Given the description of an element on the screen output the (x, y) to click on. 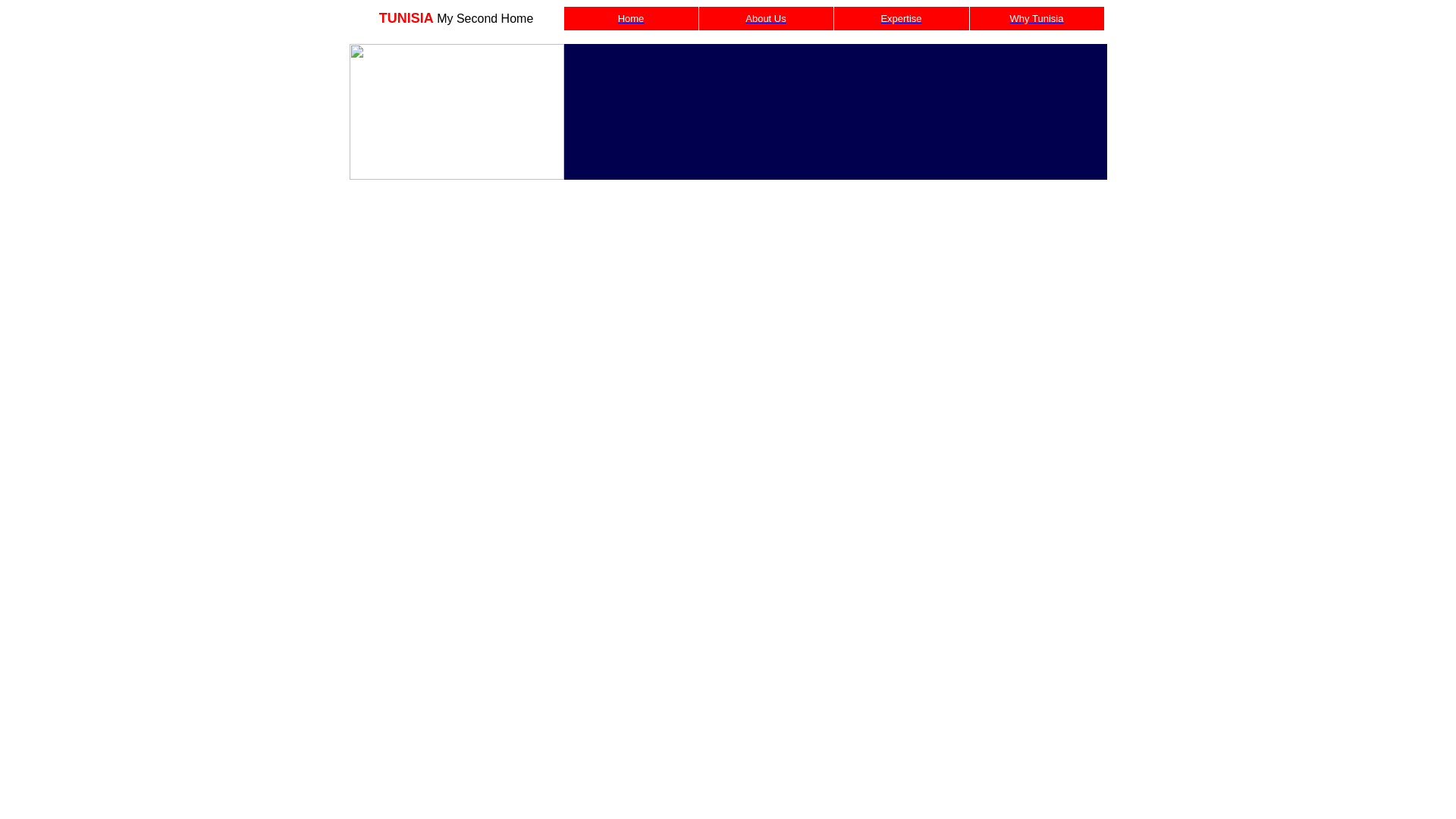
About Us (765, 18)
Home (631, 18)
Why Tunisia (1037, 18)
Expertise (900, 18)
